Given the description of an element on the screen output the (x, y) to click on. 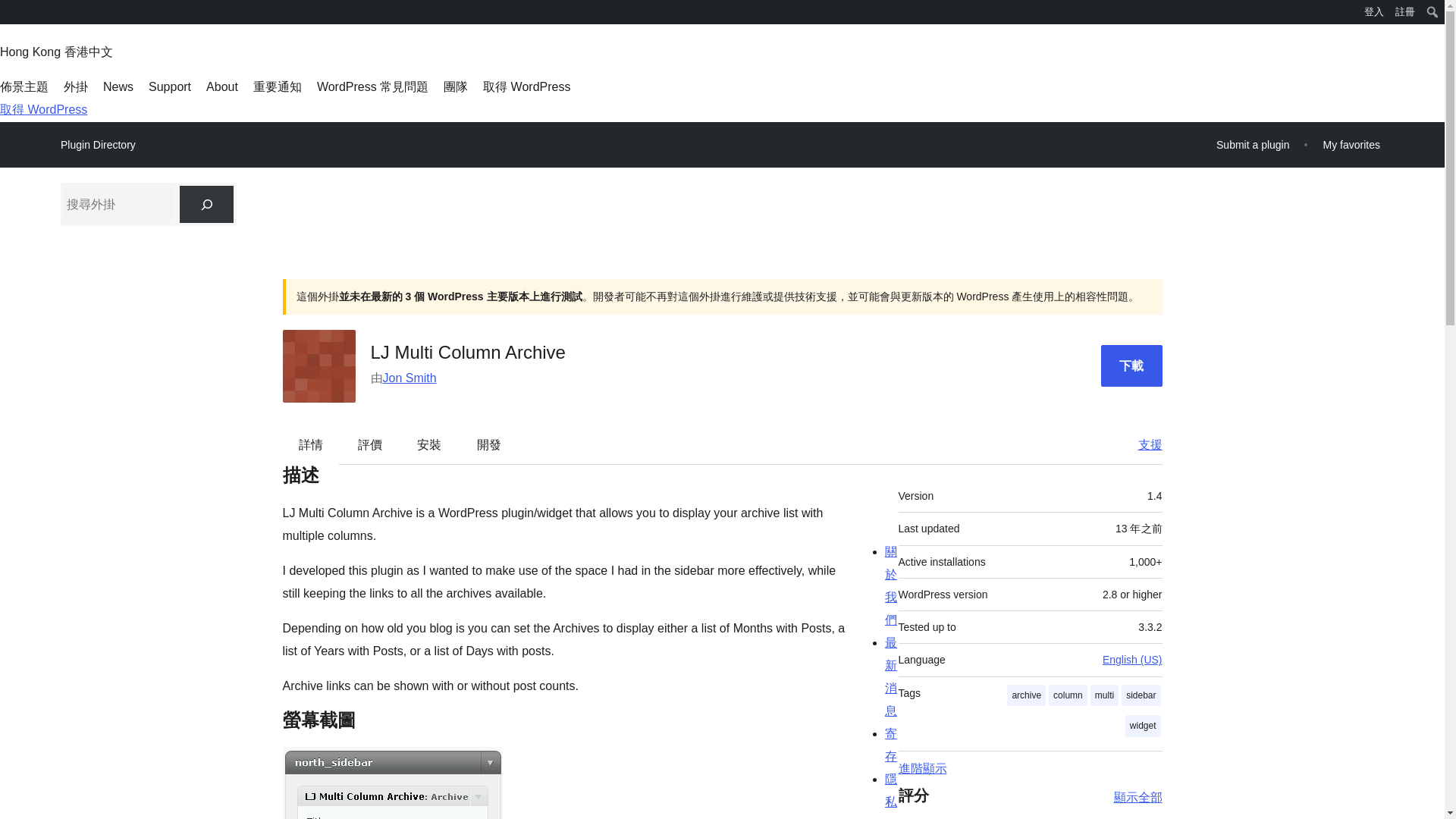
Plugin Directory (97, 144)
Support (169, 87)
My favorites (1351, 144)
WordPress.org (10, 10)
WordPress.org (10, 16)
Submit a plugin (1253, 144)
News (118, 87)
About (222, 87)
Jon Smith (408, 377)
